Given the description of an element on the screen output the (x, y) to click on. 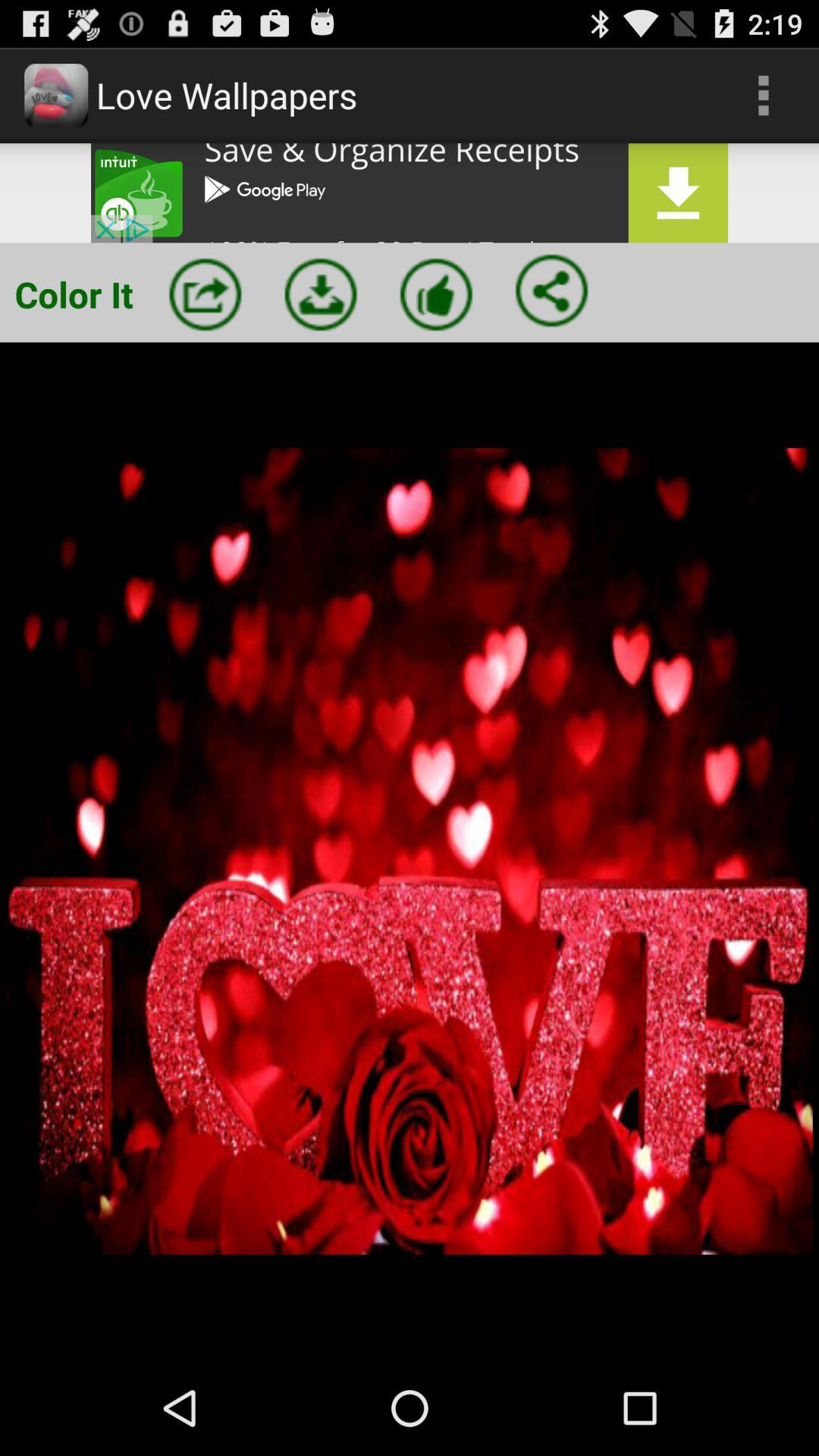
like option (436, 294)
